Given the description of an element on the screen output the (x, y) to click on. 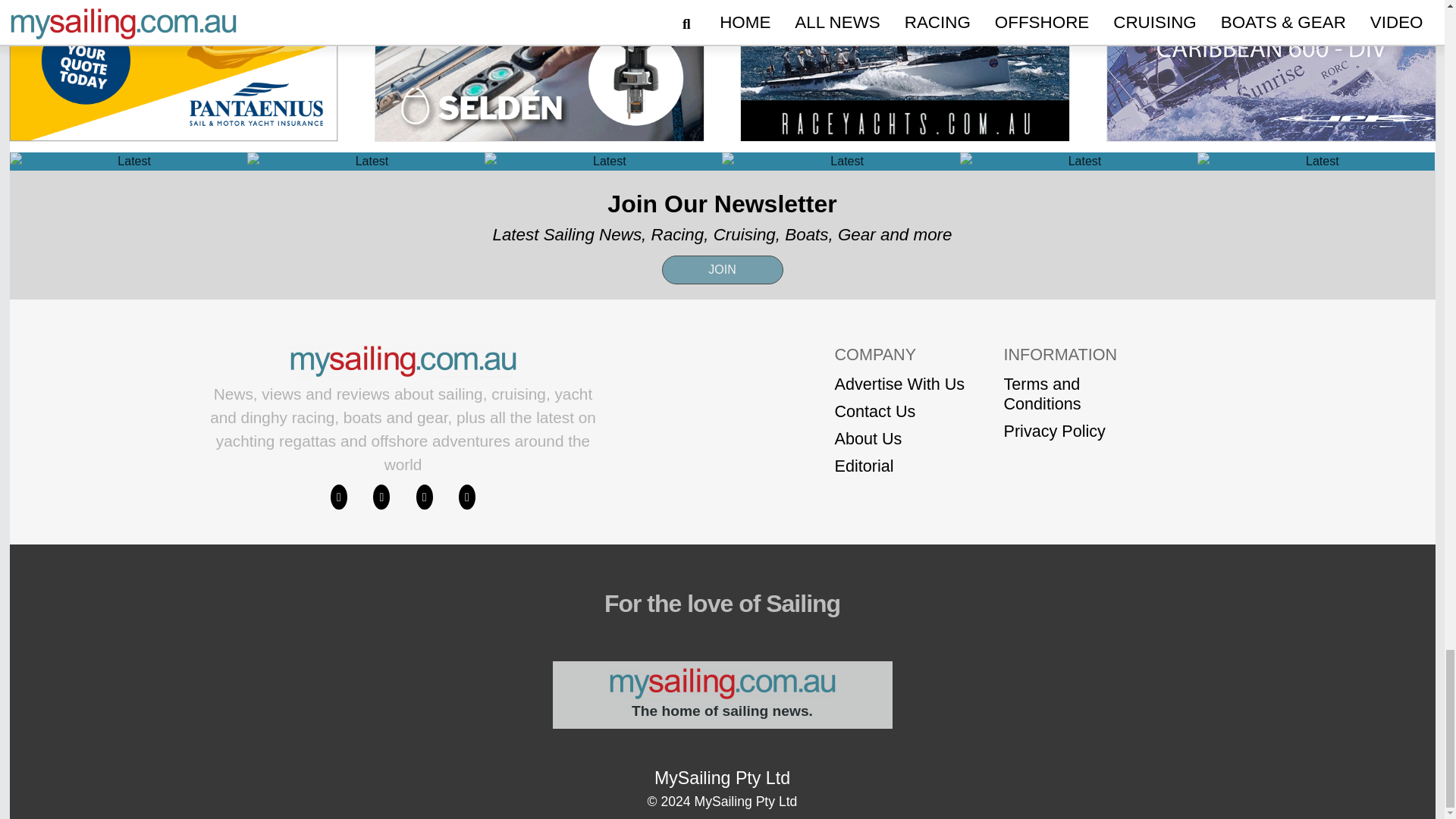
Terms and Conditions (1069, 393)
Editorial (899, 465)
Contact Us (899, 410)
Advertise With Us (899, 383)
Privacy Policy (1069, 430)
About Us (899, 437)
